Given the description of an element on the screen output the (x, y) to click on. 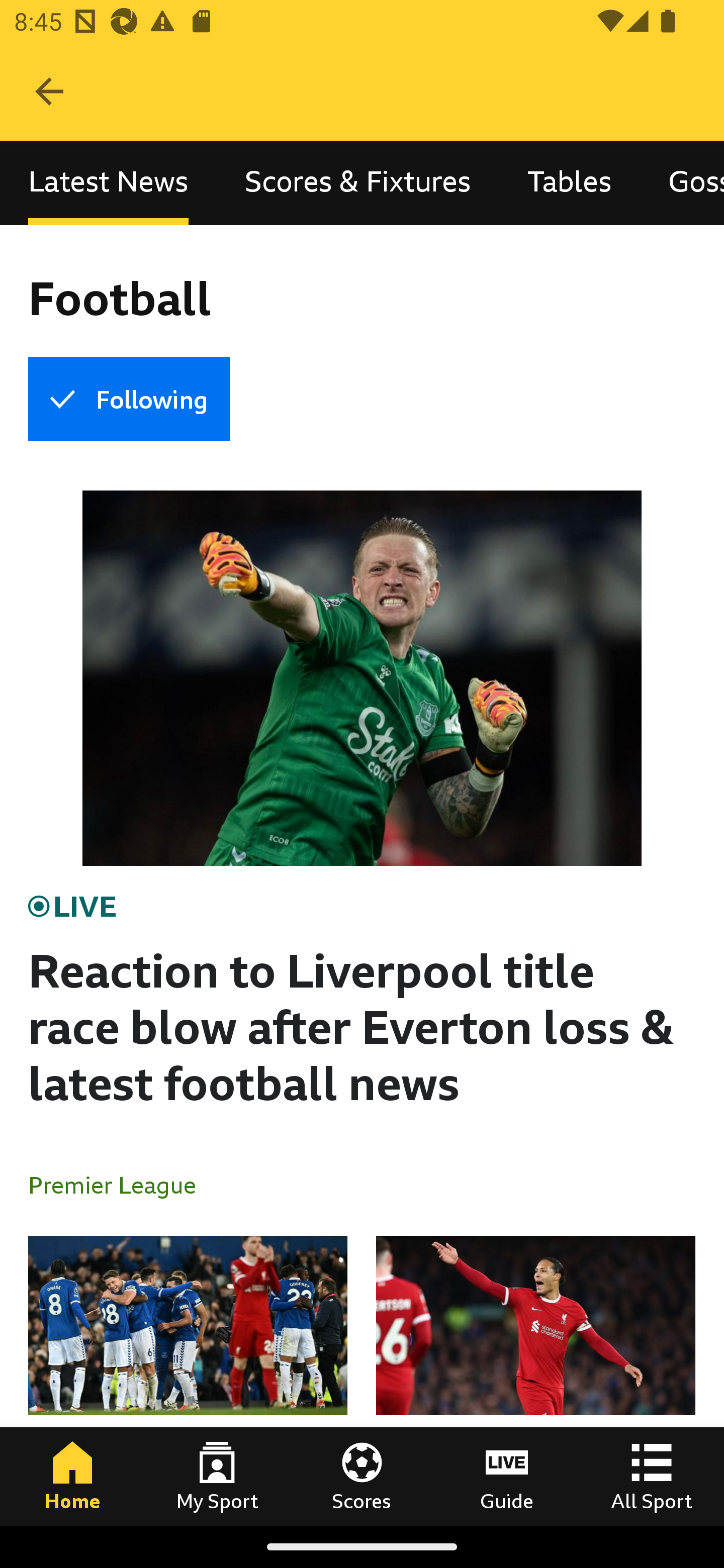
Navigate up (49, 91)
Latest News, selected Latest News (108, 183)
Scores & Fixtures (357, 183)
Tables (569, 183)
Following Football Following (129, 398)
Premier League In the section Premier League (119, 1184)
Van Dijk questions desire of team-mates after loss (535, 1380)
My Sport (216, 1475)
Scores (361, 1475)
Guide (506, 1475)
All Sport (651, 1475)
